Given the description of an element on the screen output the (x, y) to click on. 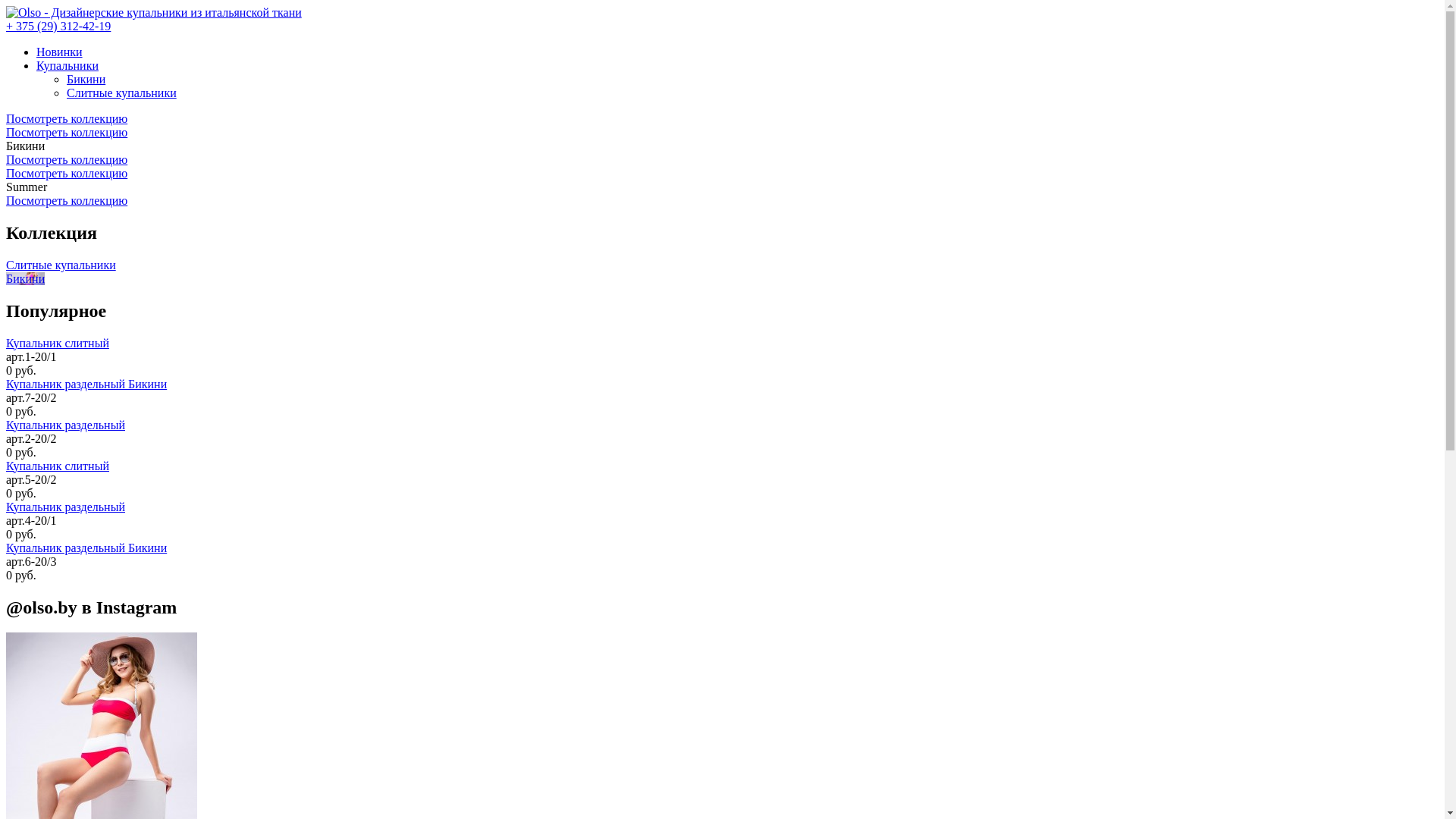
+ 375 (29) 312-42-19 Element type: text (58, 25)
